Given the description of an element on the screen output the (x, y) to click on. 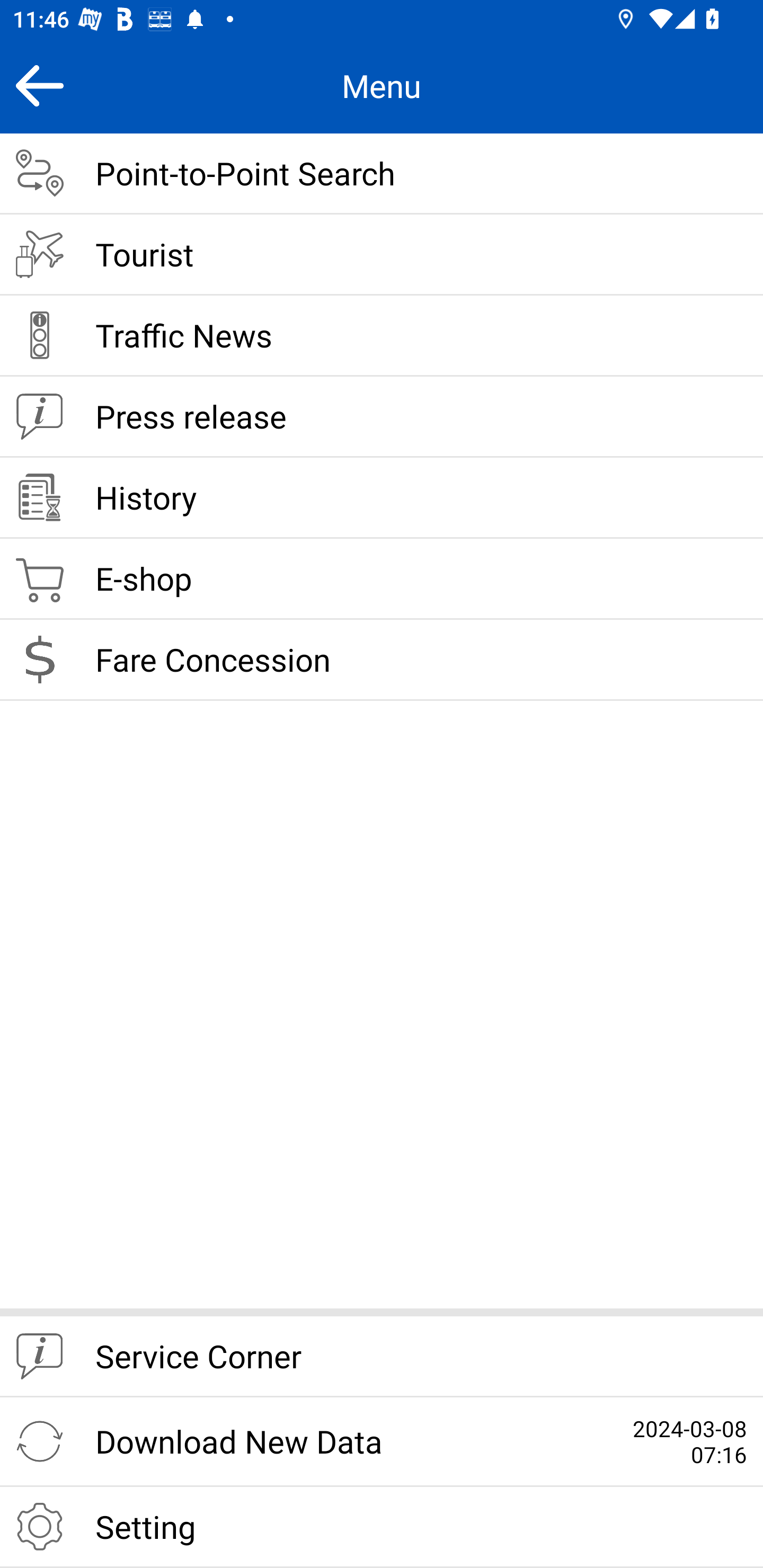
Back (39, 85)
Point-to-Point Search (381, 173)
Tourist (381, 255)
Traffic News (381, 336)
Press release (381, 416)
History (381, 498)
E-shop (381, 579)
Fare Concession (381, 659)
Service Corner (381, 1357)
Download New Data 2024-03-08
07:16 (381, 1441)
Setting (381, 1527)
